Given the description of an element on the screen output the (x, y) to click on. 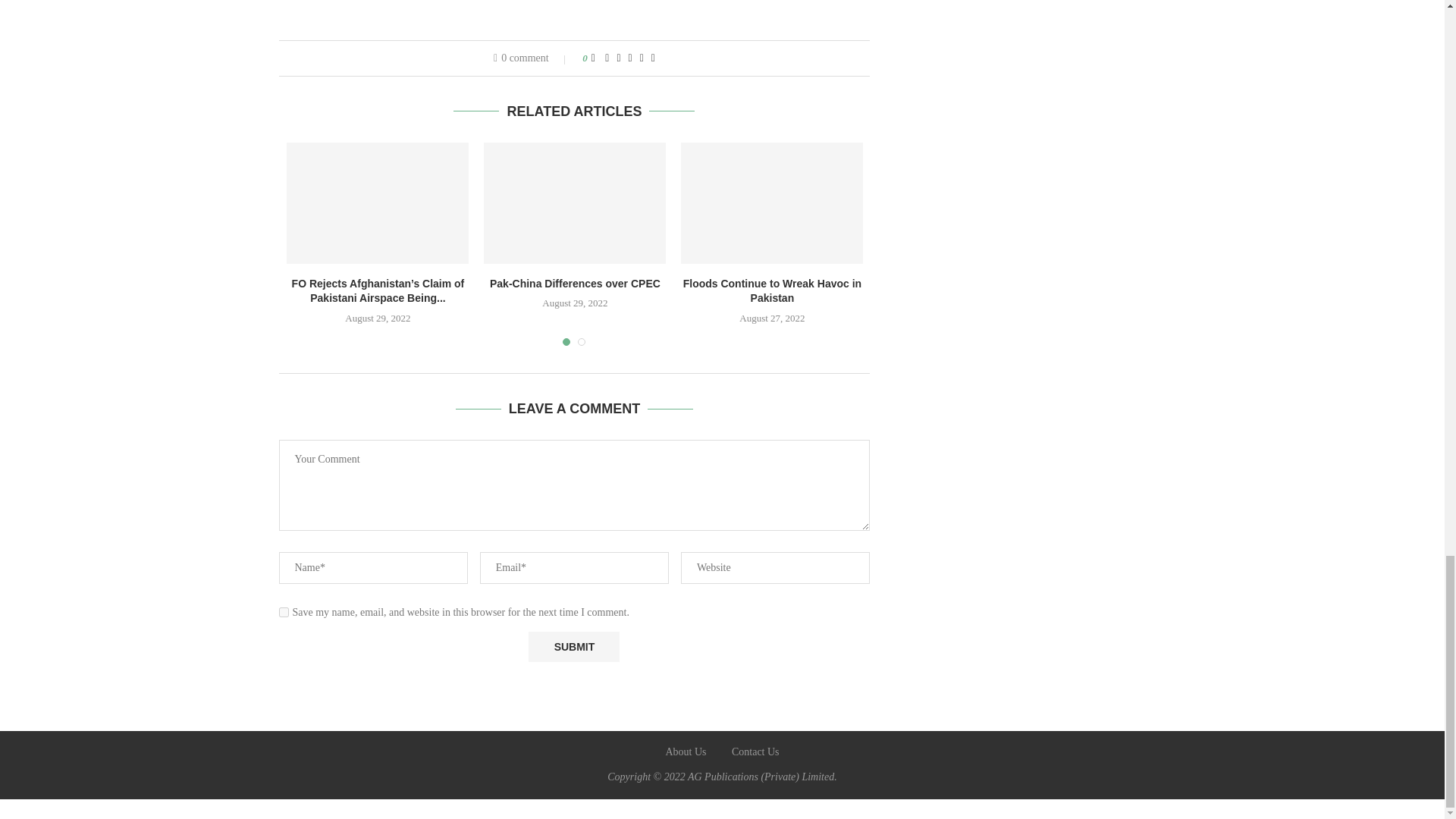
Pak-China Differences over CPEC (574, 202)
Submit (574, 646)
Pak-China Differences over CPEC (575, 283)
Floods Continue to Wreak Havoc in Pakistan (772, 202)
yes (283, 612)
